Given the description of an element on the screen output the (x, y) to click on. 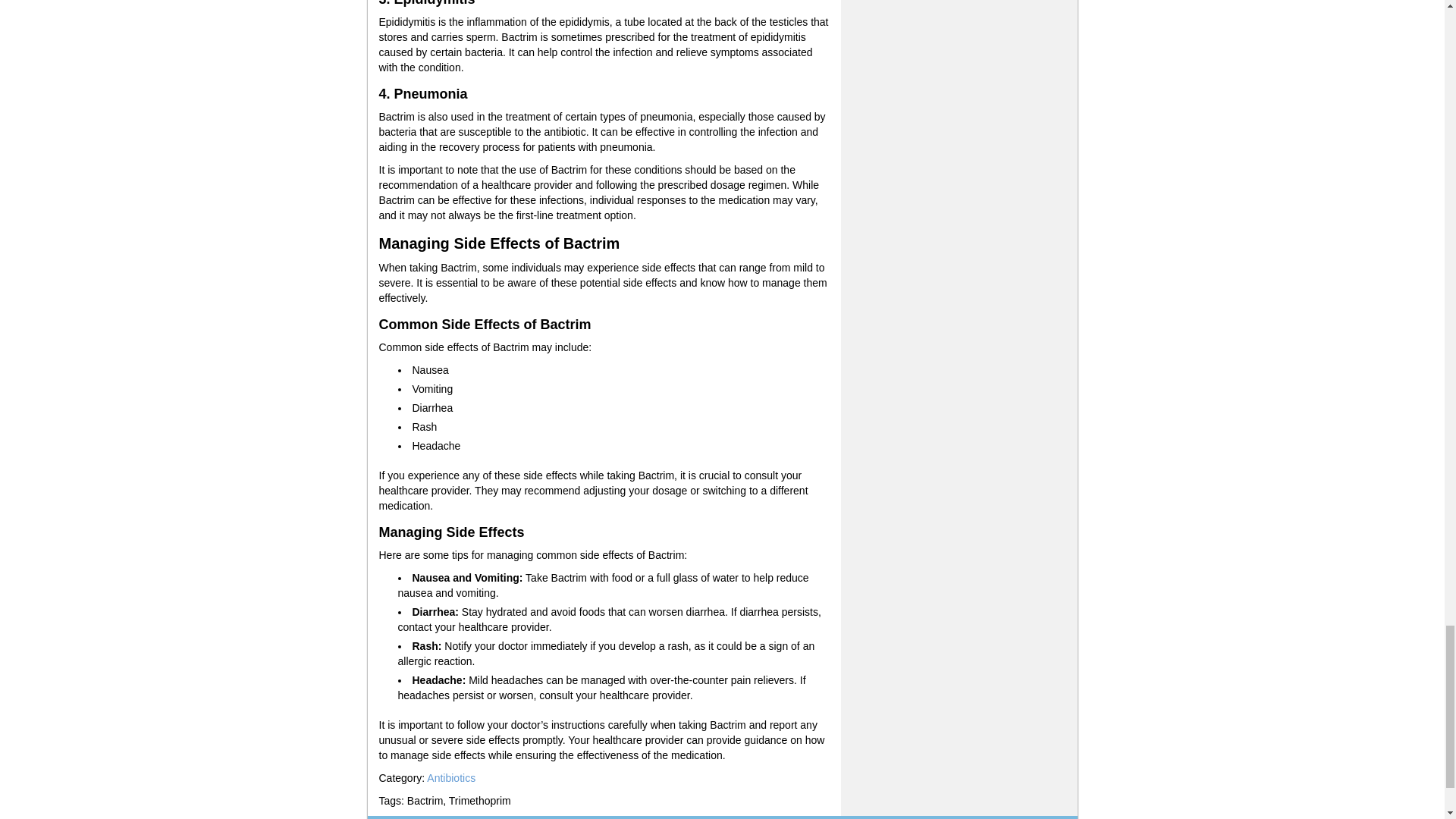
Antibiotics (451, 777)
